Given the description of an element on the screen output the (x, y) to click on. 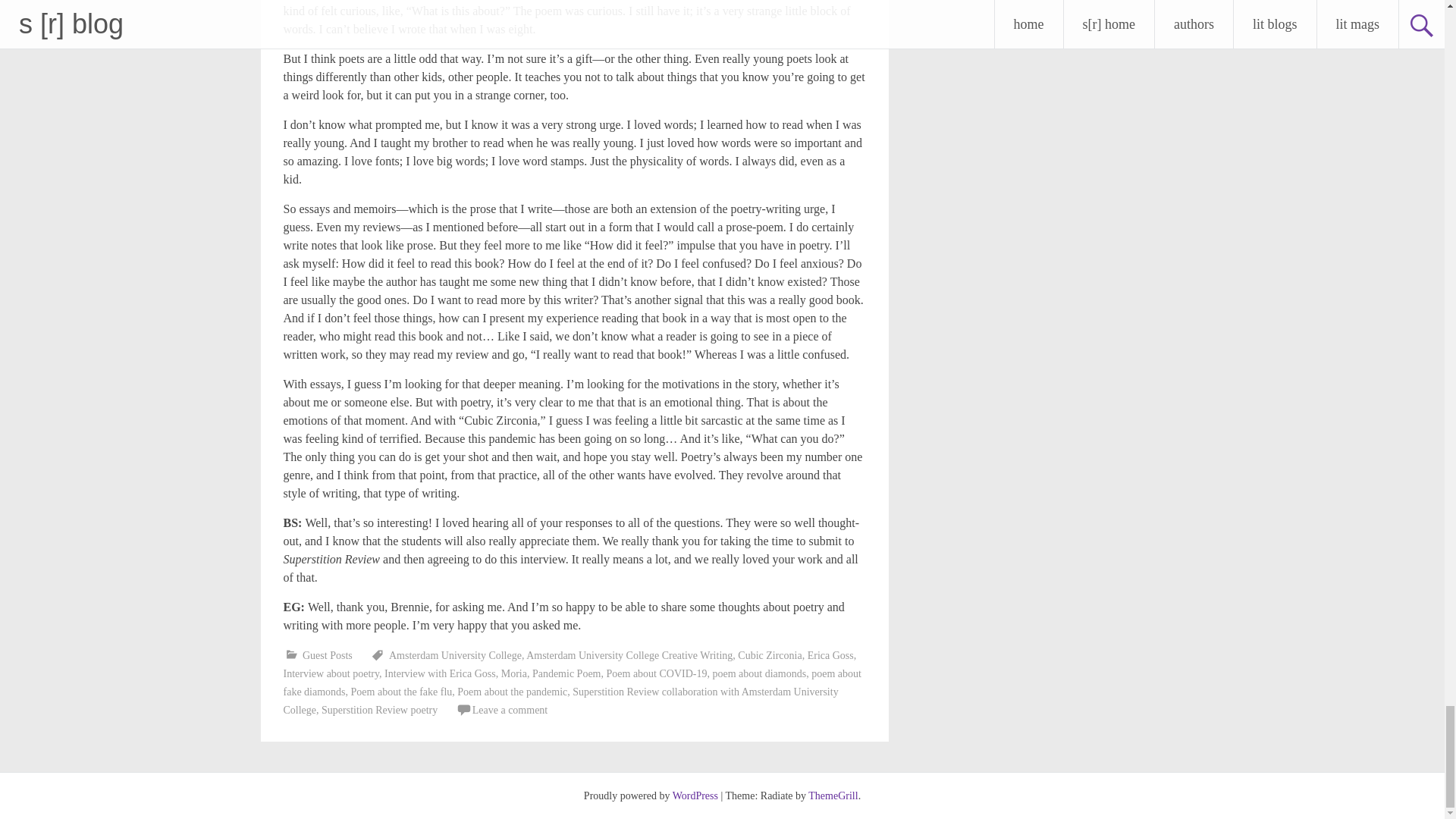
Pandemic Poem (566, 673)
Superstition Review poetry (379, 709)
Amsterdam University College Creative Writing (628, 655)
Erica Goss (830, 655)
Poem about COVID-19 (657, 673)
Interview about poetry (331, 673)
Amsterdam University College (454, 655)
Moria (513, 673)
Leave a comment (509, 709)
Poem about the pandemic (512, 691)
poem about diamonds (759, 673)
Cubic Zirconia (770, 655)
poem about fake diamonds (572, 682)
Guest Posts (327, 655)
